Given the description of an element on the screen output the (x, y) to click on. 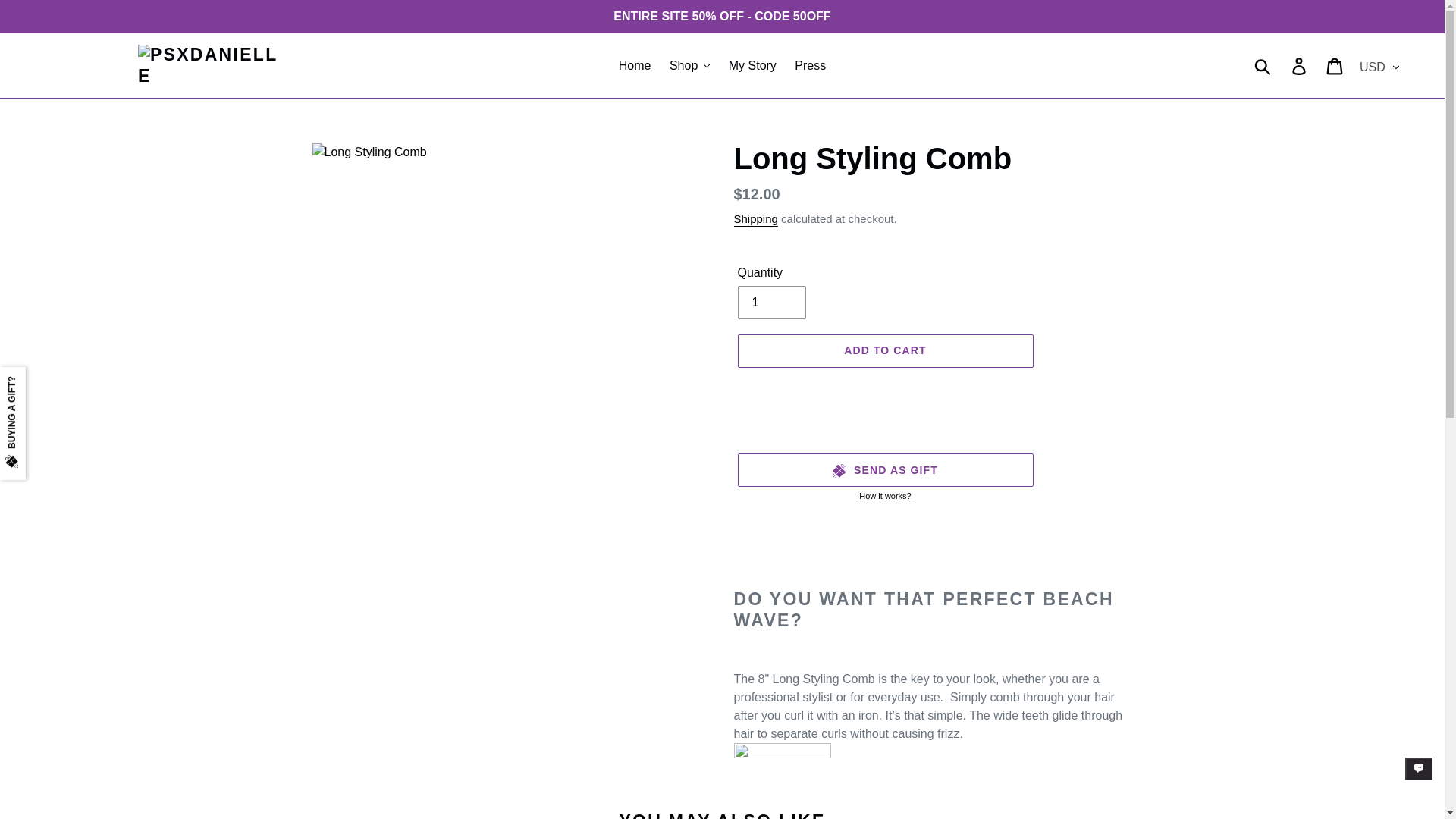
Log in (1299, 64)
Shipping (755, 219)
ADD TO CART (884, 350)
Cart (1335, 64)
Submit (1263, 65)
Home (635, 65)
Press (809, 65)
My Story (752, 65)
1 (770, 302)
SEND AS GIFT (884, 469)
